Given the description of an element on the screen output the (x, y) to click on. 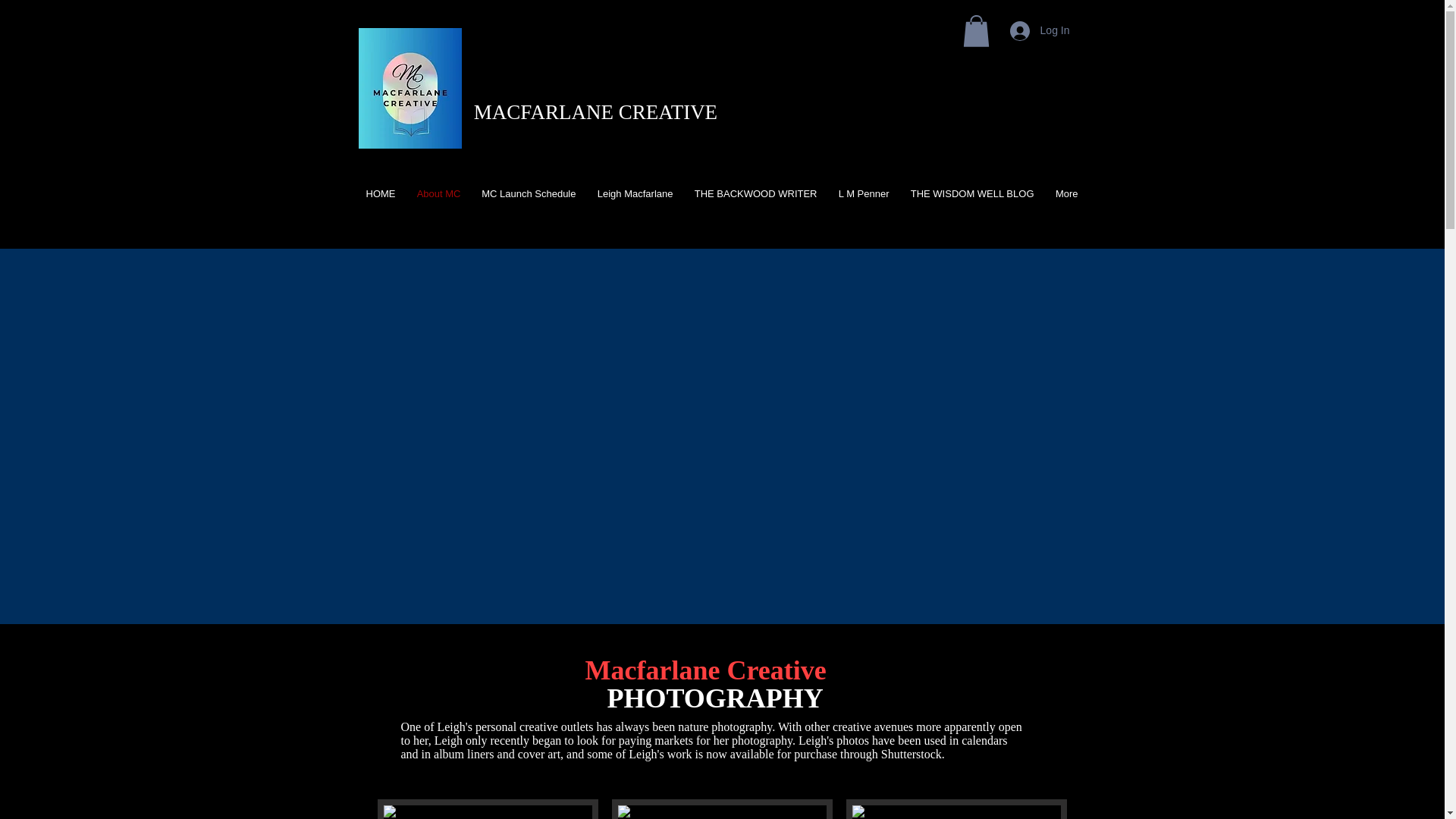
THE BACKWOOD WRITER (753, 193)
L M Penner (860, 193)
Leigh Macfarlane (632, 193)
Log In (1039, 30)
MC Launch Schedule (525, 193)
THE WISDOM WELL BLOG (970, 193)
